Given the description of an element on the screen output the (x, y) to click on. 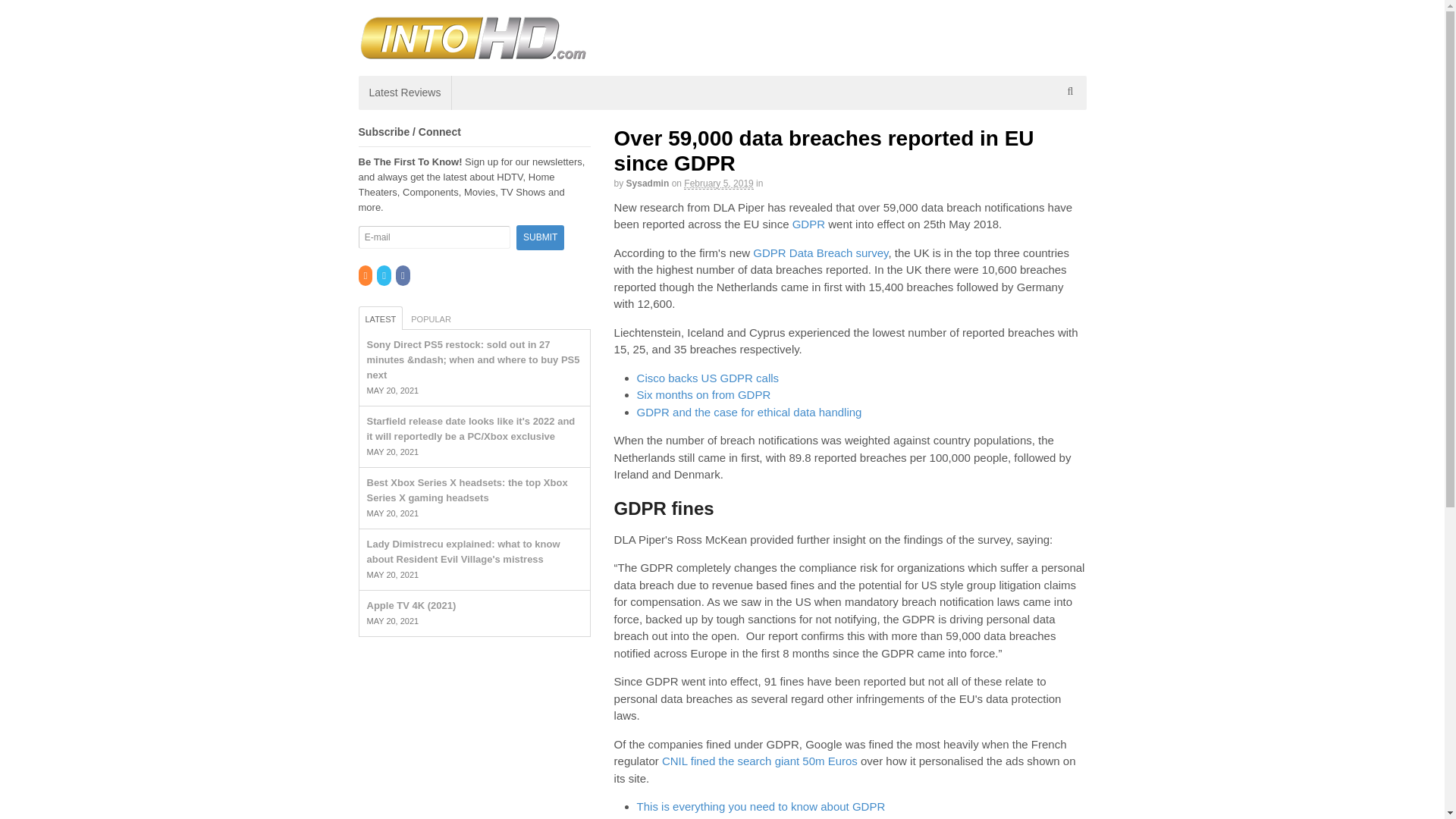
INTOHD.com (451, 75)
Submit (540, 237)
Latest Reviews (404, 92)
GDPR and the case for ethical data handling (749, 411)
Cisco backs US GDPR calls (707, 377)
High Definition Electronics News and Reviews (472, 52)
2019-02-05T10:37:00-0800 (718, 183)
Twitter (385, 276)
E-mail (433, 237)
POPULAR (431, 318)
GDPR (808, 223)
Posts by sysadmin (647, 183)
Search (1071, 129)
LATEST (380, 318)
